Given the description of an element on the screen output the (x, y) to click on. 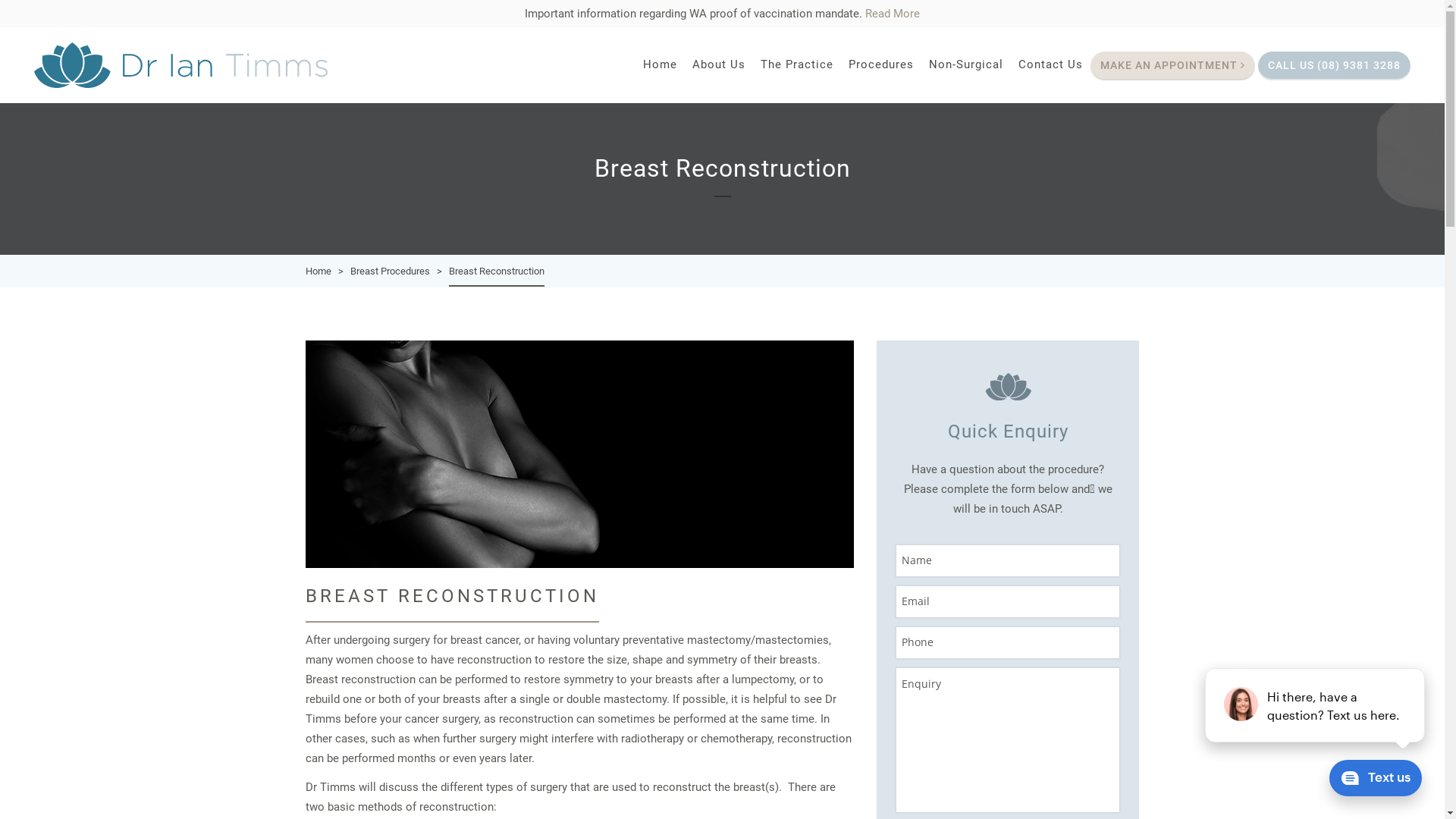
podium webchat widget prompt Element type: hover (1315, 705)
Home Element type: text (659, 66)
Read More Element type: text (892, 13)
MAKE AN APPOINTMENT Element type: text (1172, 65)
About Us Element type: text (718, 66)
The Practice Element type: text (796, 66)
Breast Procedures Element type: text (389, 270)
Procedures Element type: text (880, 66)
CALL US (08) 9381 3288 Element type: text (1334, 65)
Contact Us Element type: text (1050, 66)
Home Element type: text (317, 270)
Non-Surgical Element type: text (965, 66)
